Given the description of an element on the screen output the (x, y) to click on. 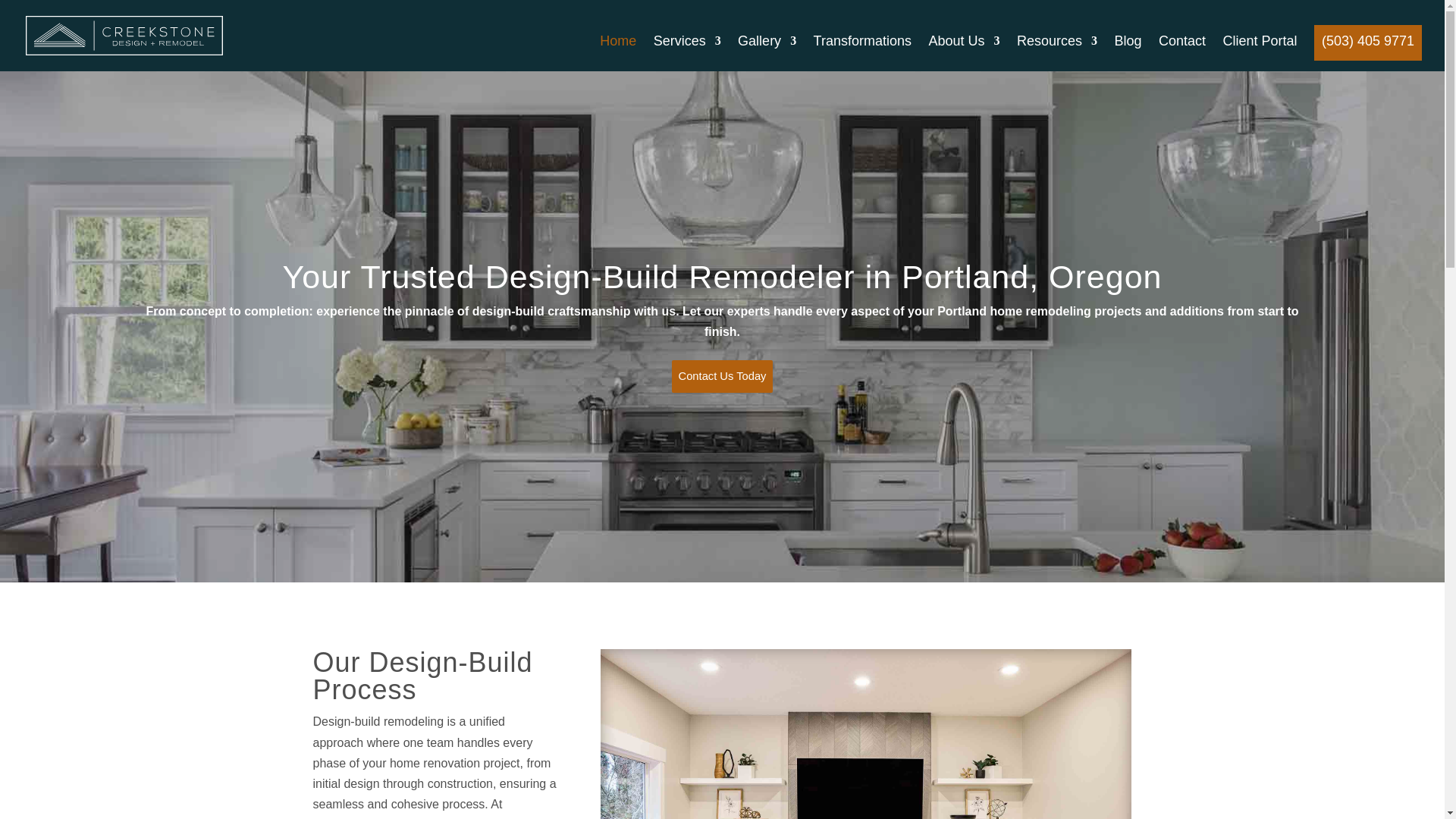
Client Portal (1260, 53)
Transformations (862, 53)
Blog (1127, 53)
Gallery (767, 53)
Resources (1056, 53)
Contact (1181, 53)
About Us (963, 53)
Services (686, 53)
Home (617, 53)
Fireplace (865, 734)
Contact Us Today (722, 376)
